Given the description of an element on the screen output the (x, y) to click on. 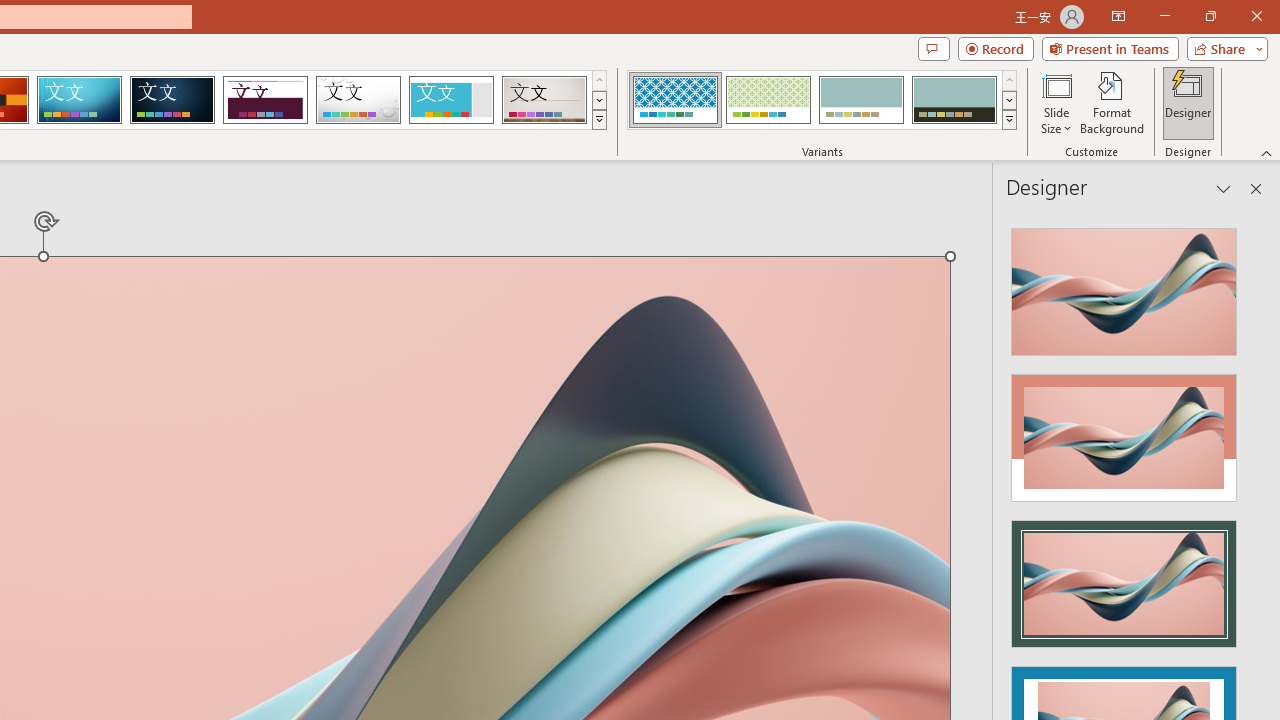
Integral Variant 1 (674, 100)
